Given the description of an element on the screen output the (x, y) to click on. 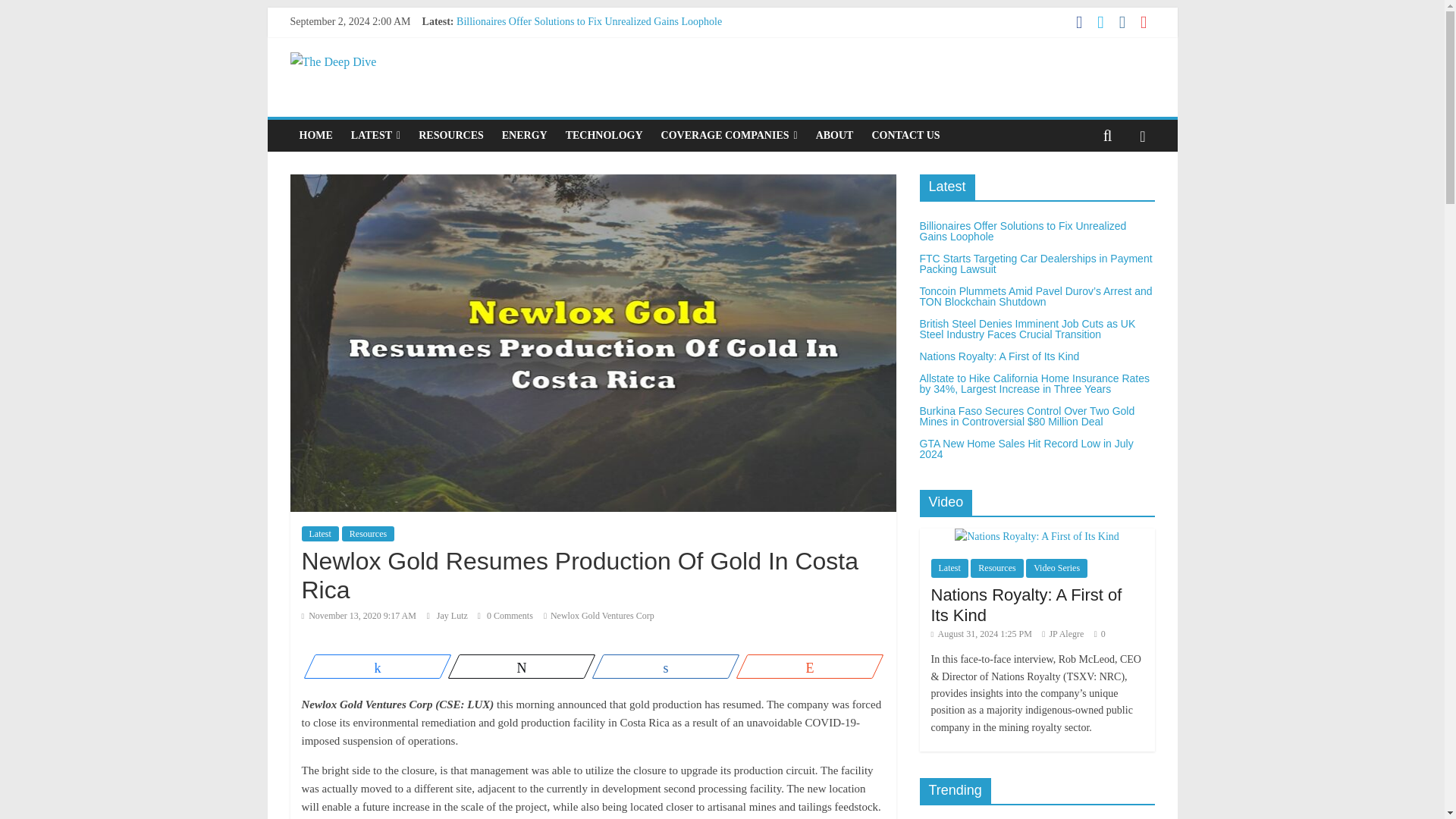
LATEST (375, 135)
Nations Royalty: A First of Its Kind (532, 89)
HOME (314, 135)
Nations Royalty: A First of Its Kind (532, 89)
ENERGY (524, 135)
COVERAGE COMPANIES (729, 135)
RESOURCES (451, 135)
